Given the description of an element on the screen output the (x, y) to click on. 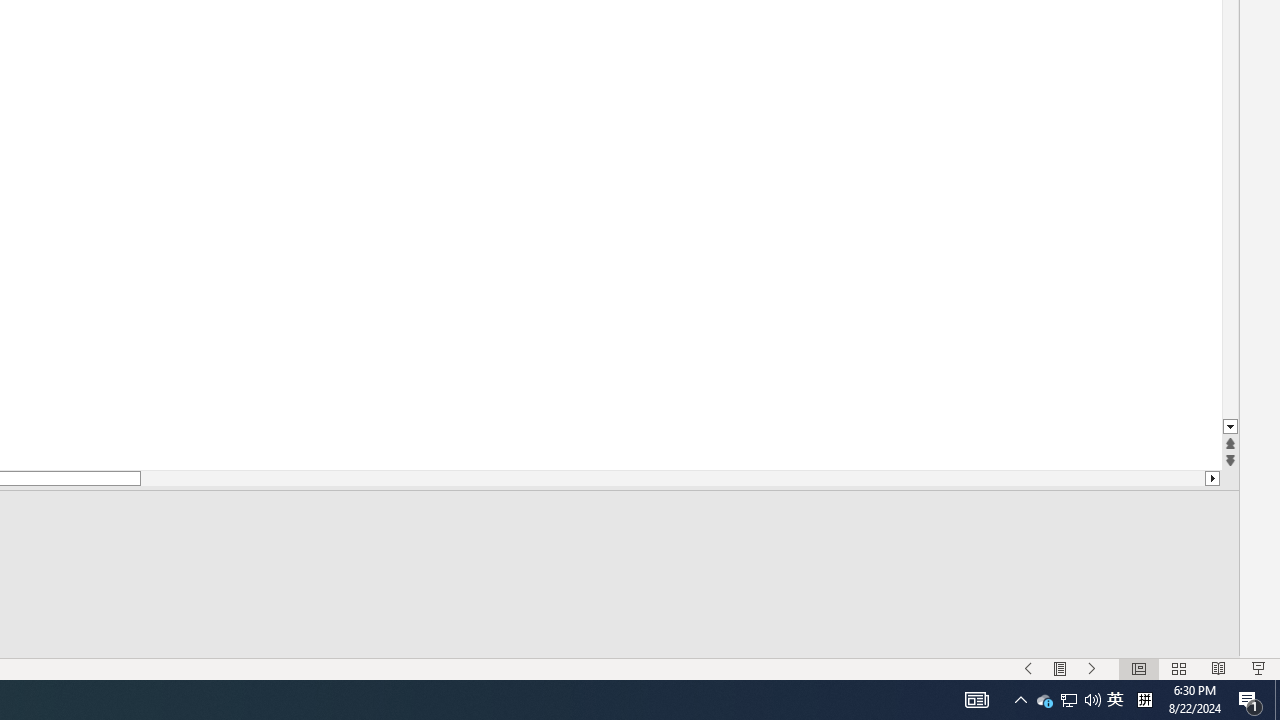
Menu On (1060, 668)
Slide Show Next On (1092, 668)
Slide Show Previous On (1028, 668)
